Given the description of an element on the screen output the (x, y) to click on. 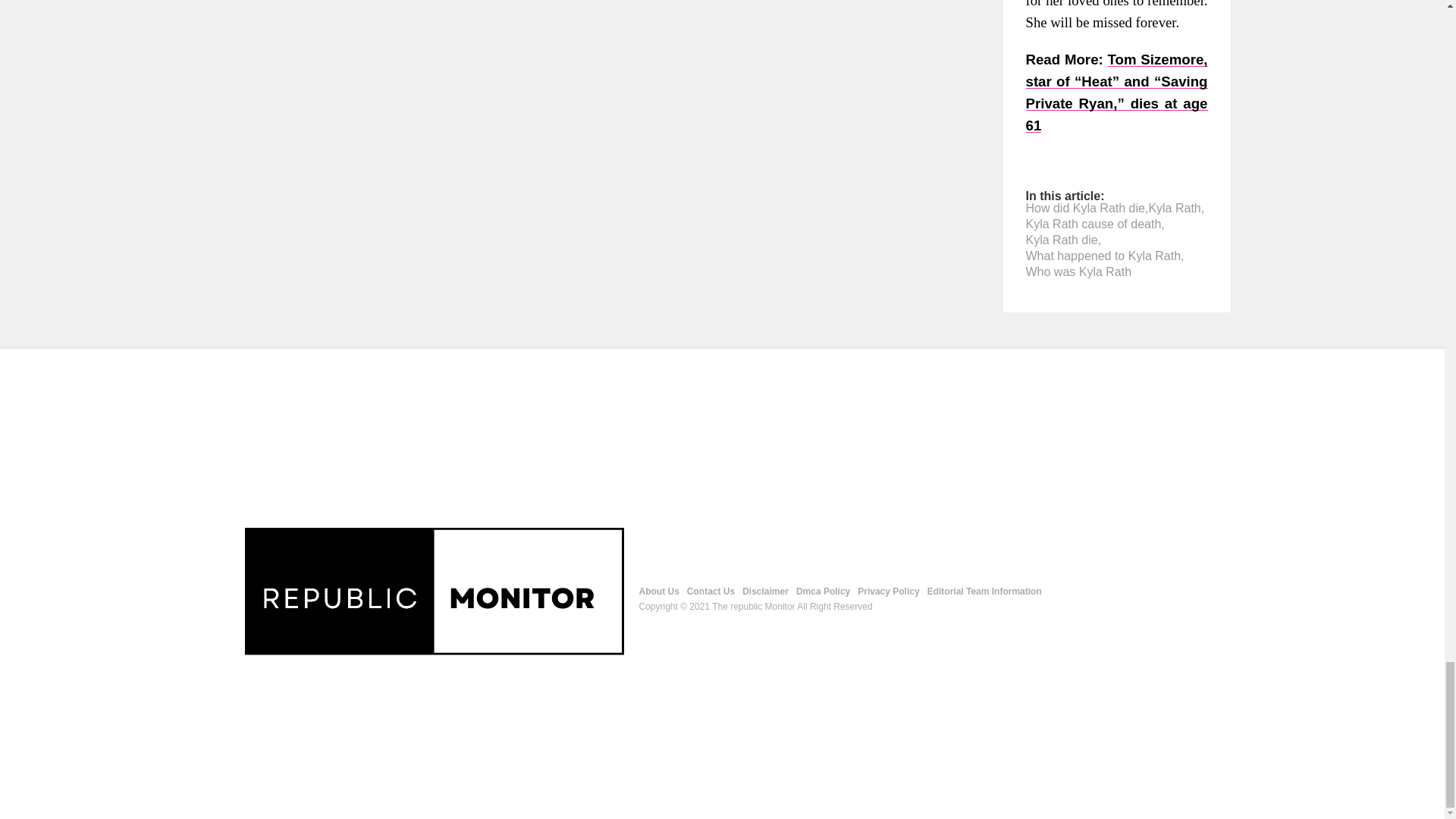
How did Kyla Rath die (1084, 208)
Kyla Rath (1173, 208)
